Given the description of an element on the screen output the (x, y) to click on. 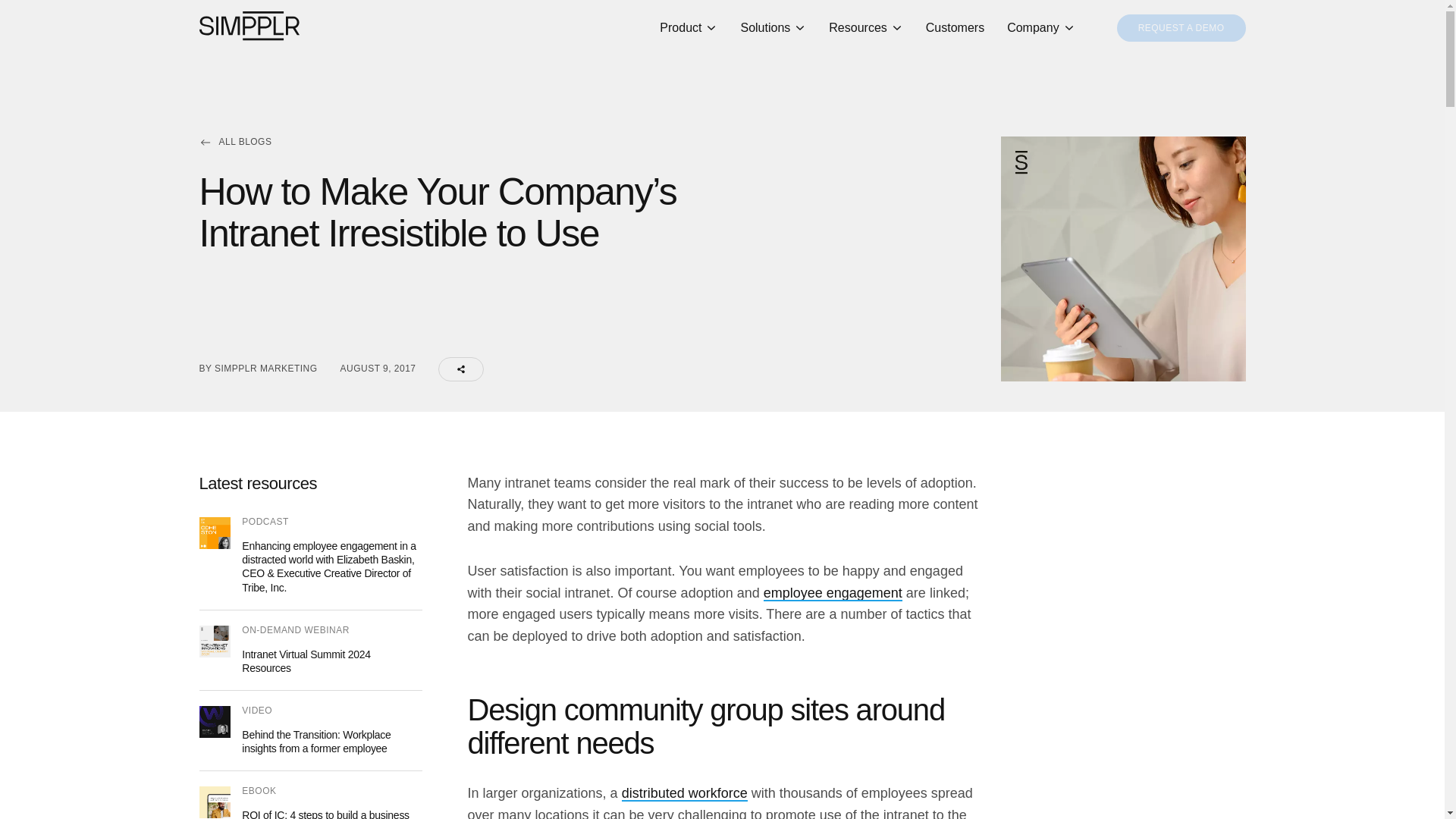
Customers (955, 28)
